Given the description of an element on the screen output the (x, y) to click on. 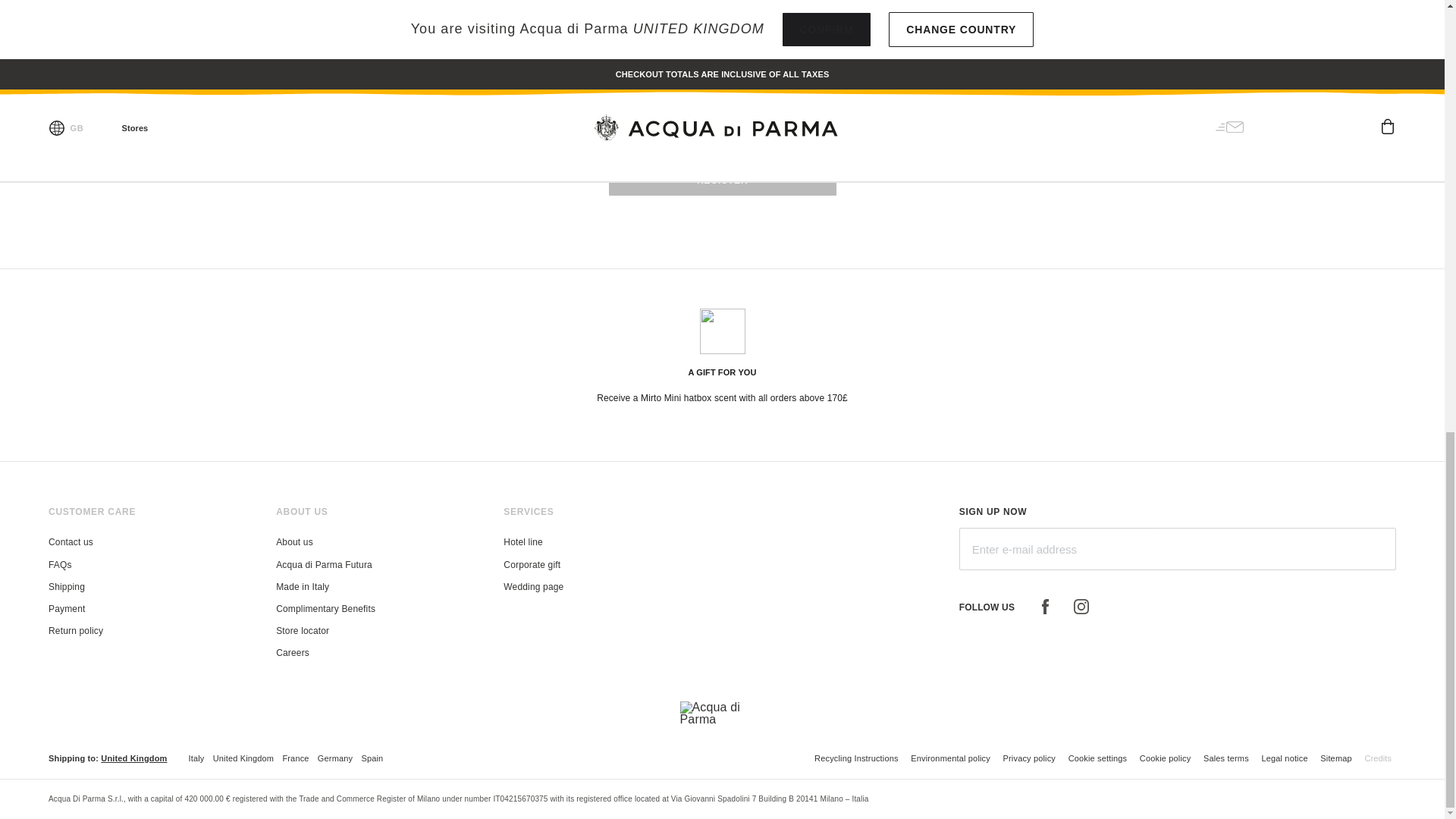
true (746, 9)
Change shipping country (133, 757)
Acqua di Parma Facebook (1044, 606)
Facebook icon (1044, 606)
Instagram icon (1080, 606)
Acqua di Parma Instagram (1080, 606)
